Given the description of an element on the screen output the (x, y) to click on. 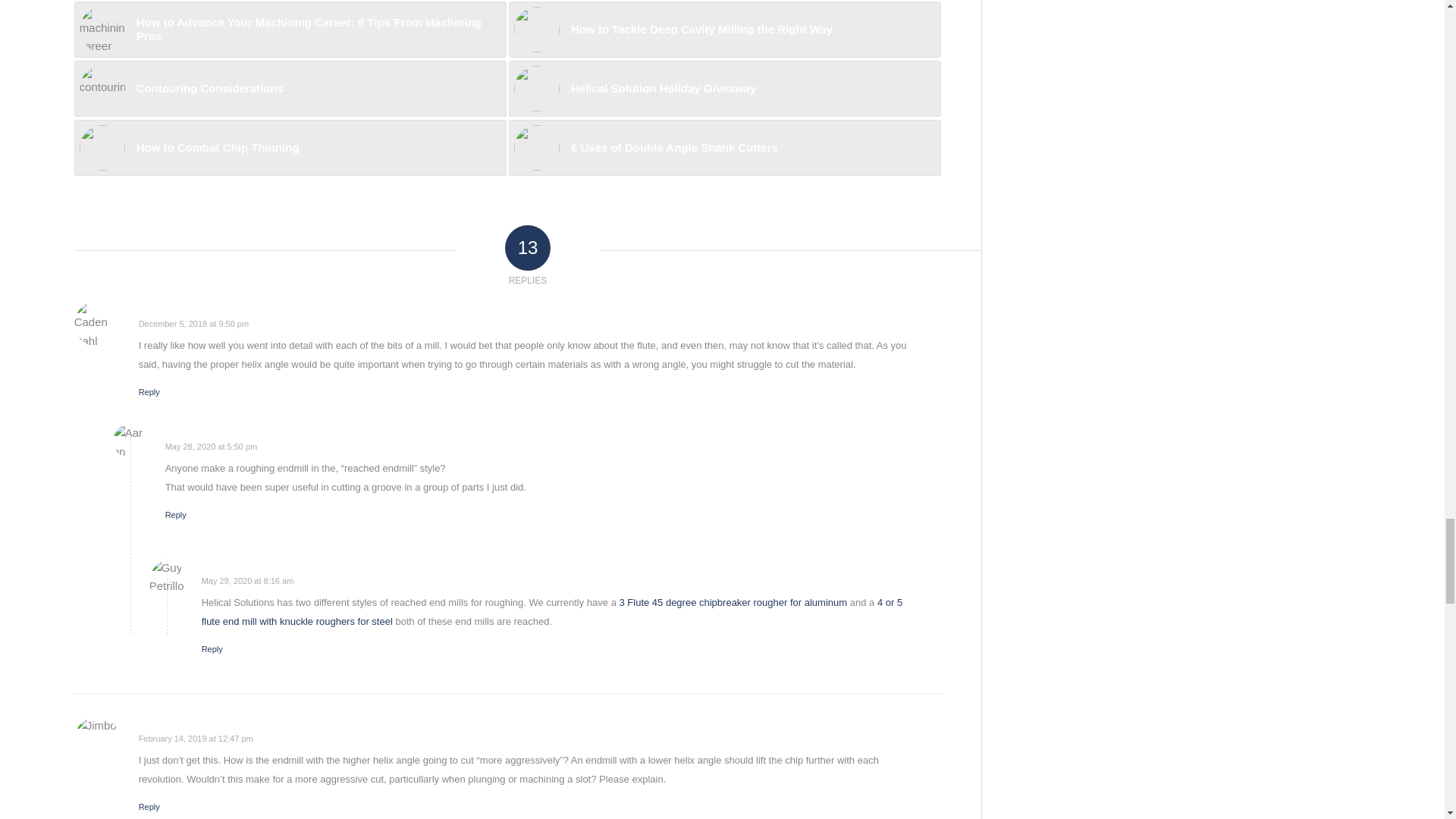
May 29, 2020 at 8:16 am (248, 580)
How to Combat Chip Thinning (290, 147)
6 Uses of Double Angle Shank Cutters (724, 147)
How to Tackle Deep Cavity Milling the Right Way (724, 29)
Helical Solution Holiday Giveaway (724, 88)
May 28, 2020 at 5:50 pm (211, 446)
Reply (175, 514)
December 5, 2018 at 9:50 pm (193, 323)
Contouring Considerations (290, 88)
Reply (149, 391)
How to Tackle Deep Cavity Milling the Right Way (724, 29)
